Given the description of an element on the screen output the (x, y) to click on. 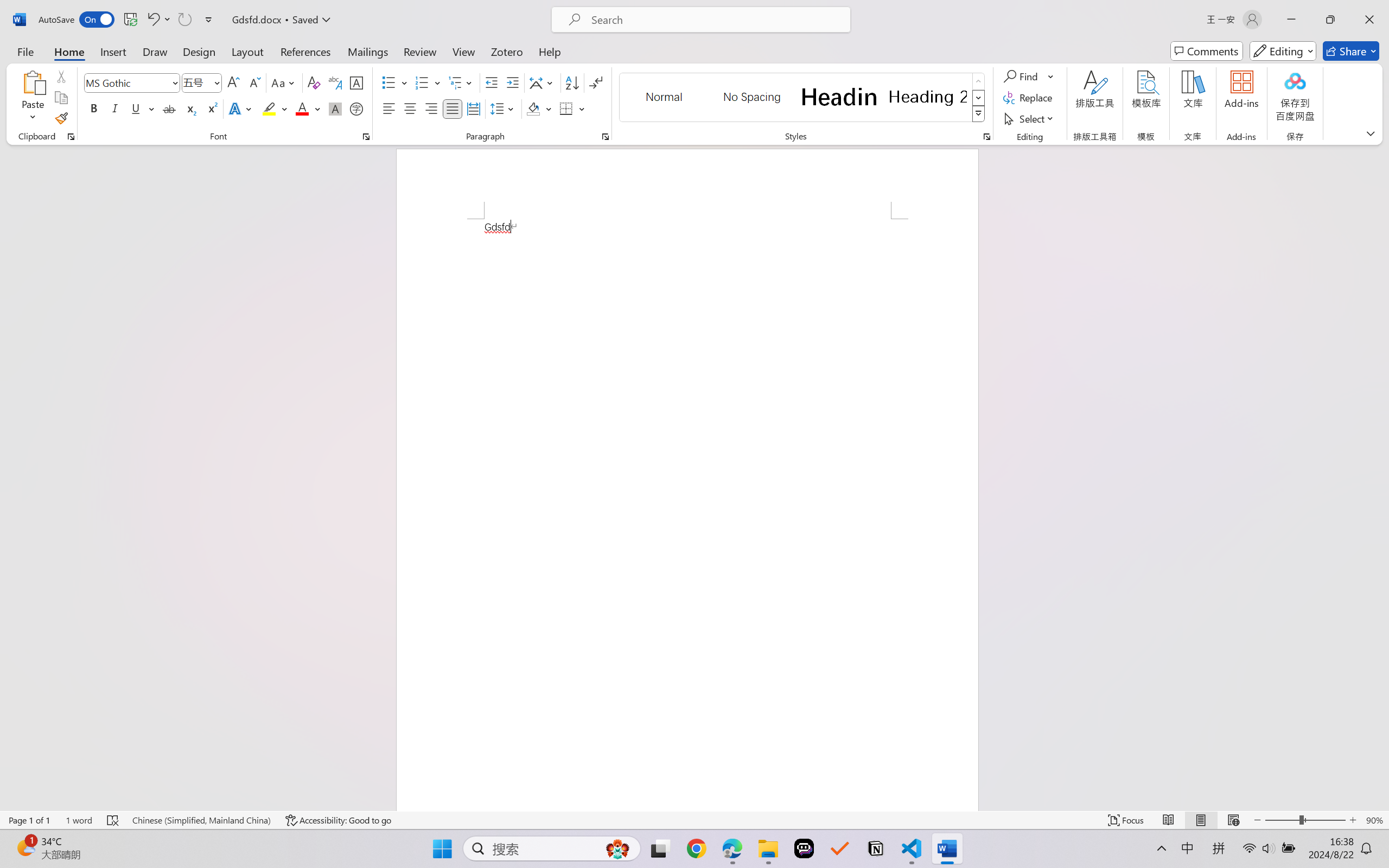
Distributed (473, 108)
Zoom 90% (1374, 819)
Shading RGB(0, 0, 0) (533, 108)
Sort... (571, 82)
